Given the description of an element on the screen output the (x, y) to click on. 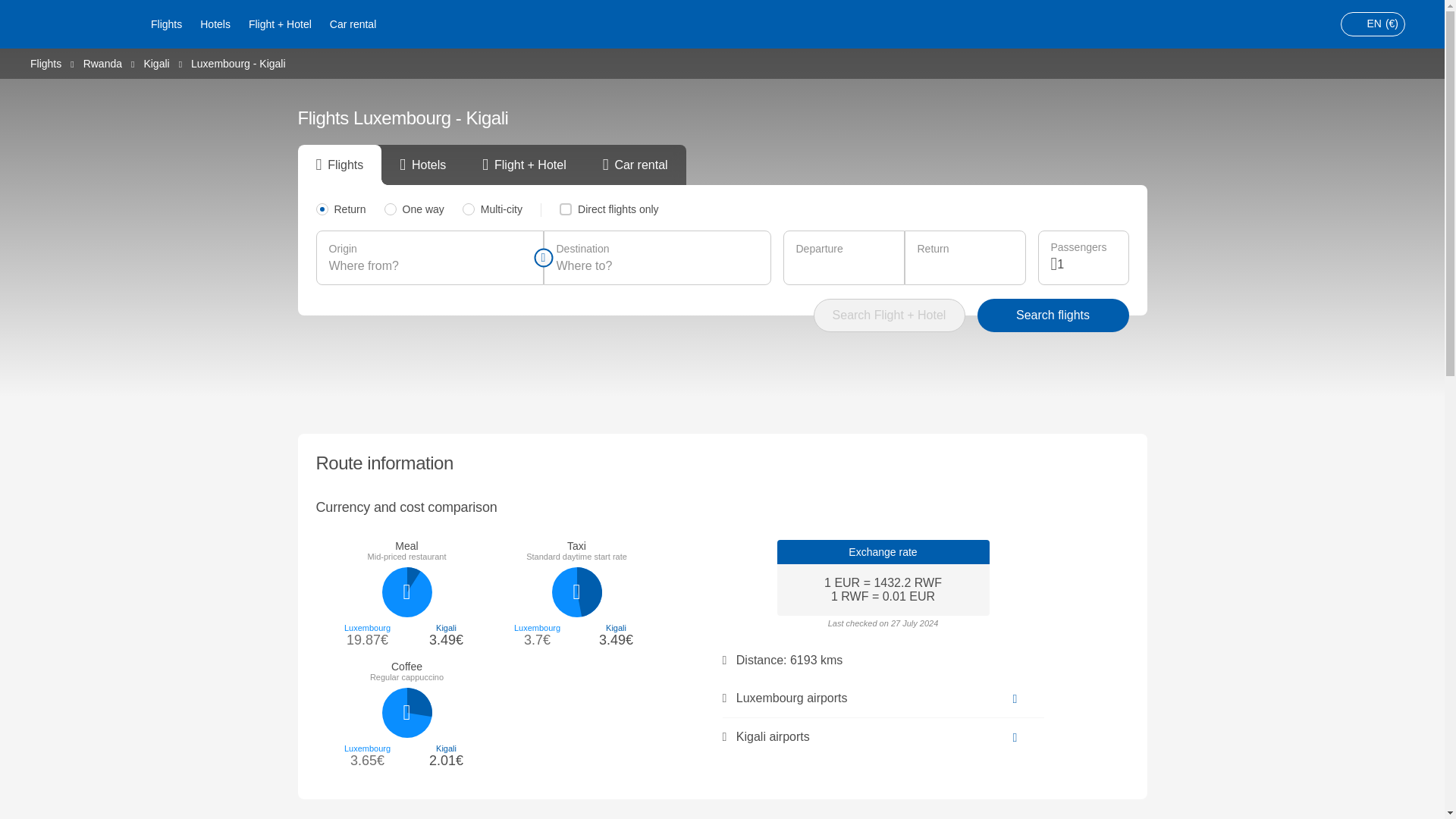
Flights (165, 24)
Flights (45, 62)
Search flights (1052, 315)
Car rental (352, 24)
1 (1086, 263)
Rwanda (102, 62)
Hotels (215, 24)
Luxembourg - Kigali (237, 63)
Kigali (155, 62)
